Given the description of an element on the screen output the (x, y) to click on. 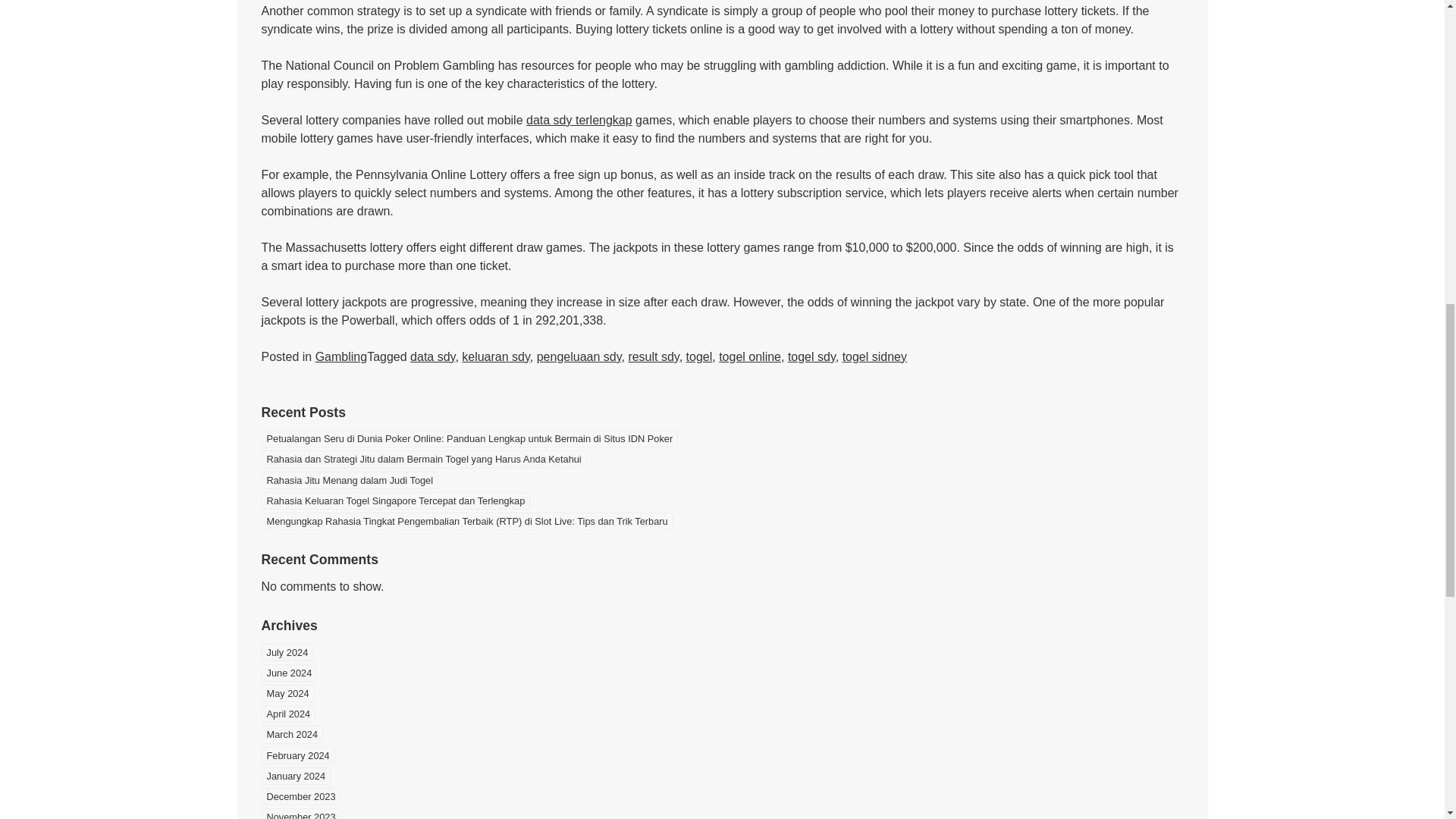
togel online (749, 356)
Rahasia Keluaran Togel Singapore Tercepat dan Terlengkap (394, 500)
July 2024 (286, 651)
December 2023 (300, 796)
togel (699, 356)
togel sdy (811, 356)
February 2024 (297, 755)
result sdy (652, 356)
May 2024 (287, 692)
June 2024 (288, 672)
togel sidney (875, 356)
pengeluaan sdy (579, 356)
January 2024 (295, 775)
